Given the description of an element on the screen output the (x, y) to click on. 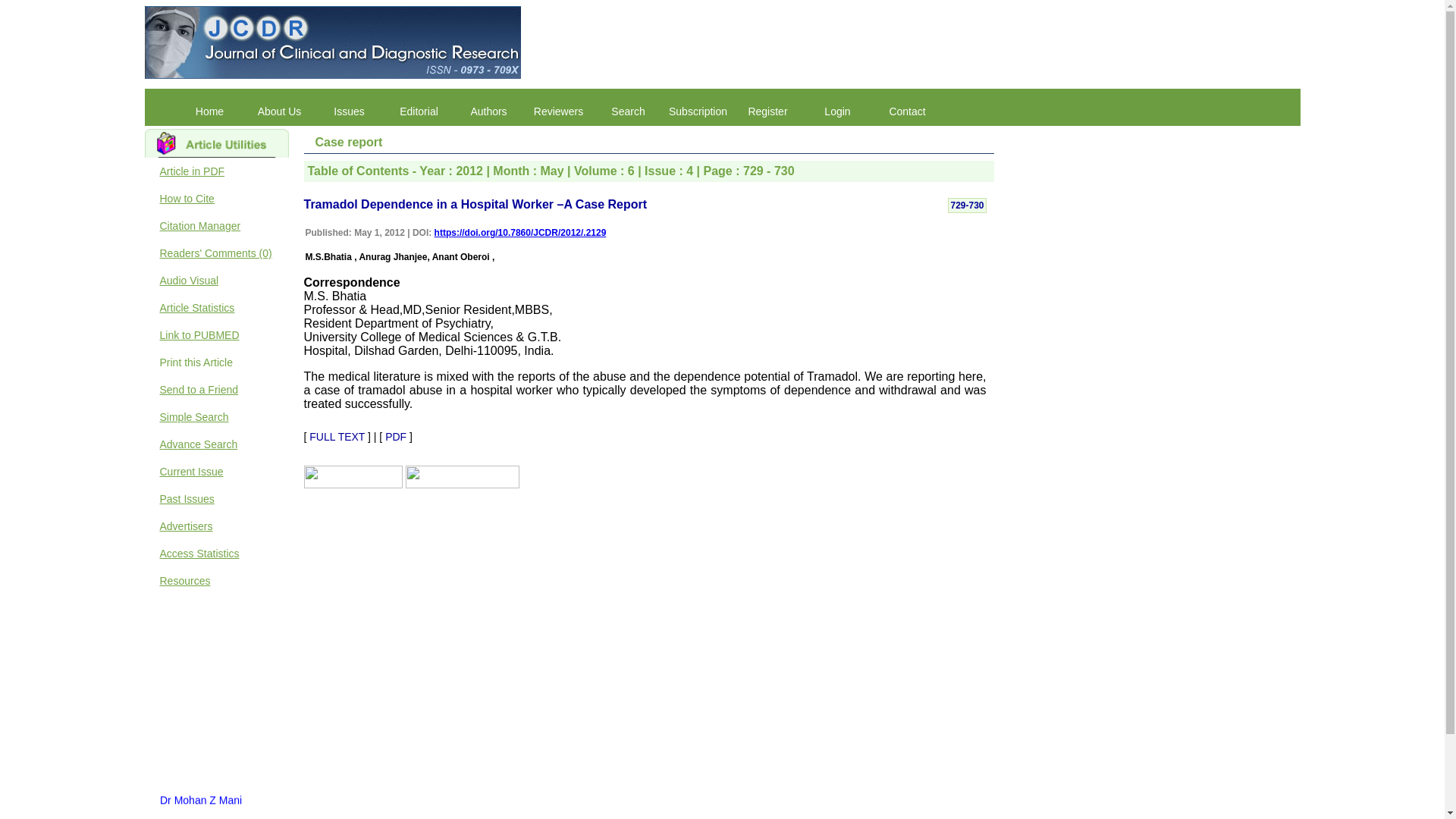
Home (209, 111)
Editorial (418, 111)
About Us (279, 111)
Issues (349, 111)
Reviewers (557, 111)
Authors (487, 111)
